Given the description of an element on the screen output the (x, y) to click on. 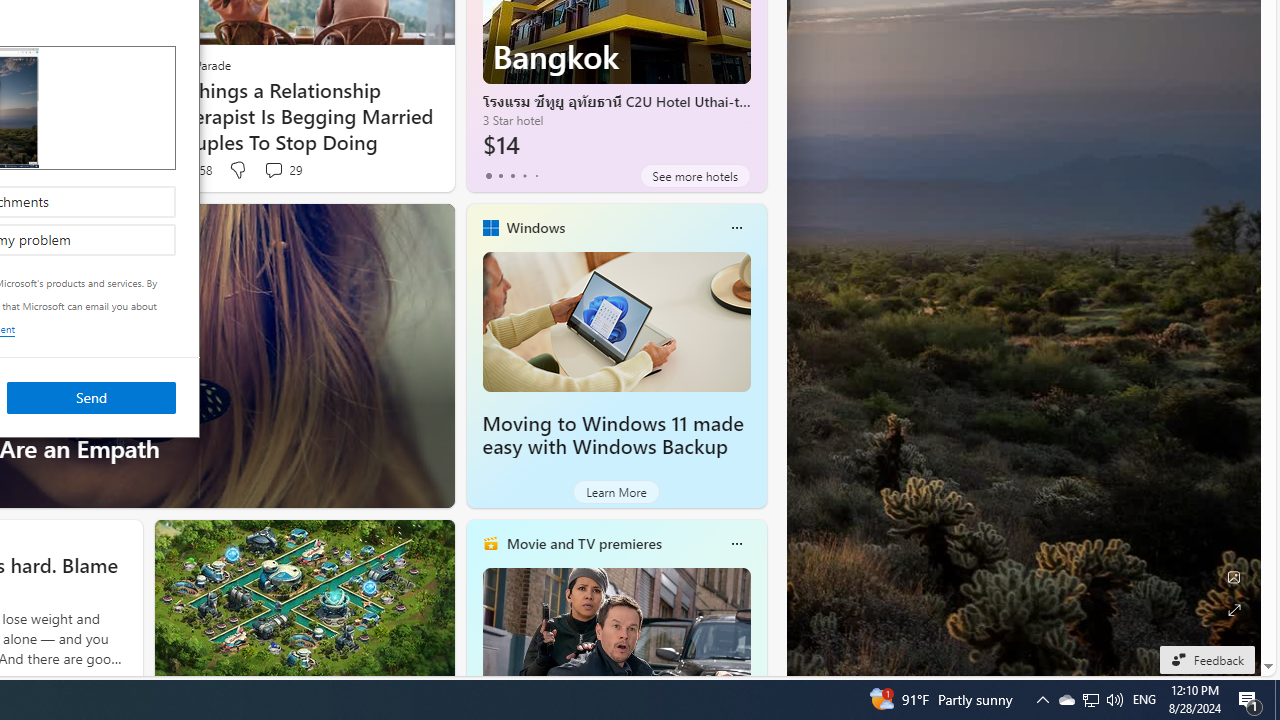
tab-0 (488, 175)
